Given the description of an element on the screen output the (x, y) to click on. 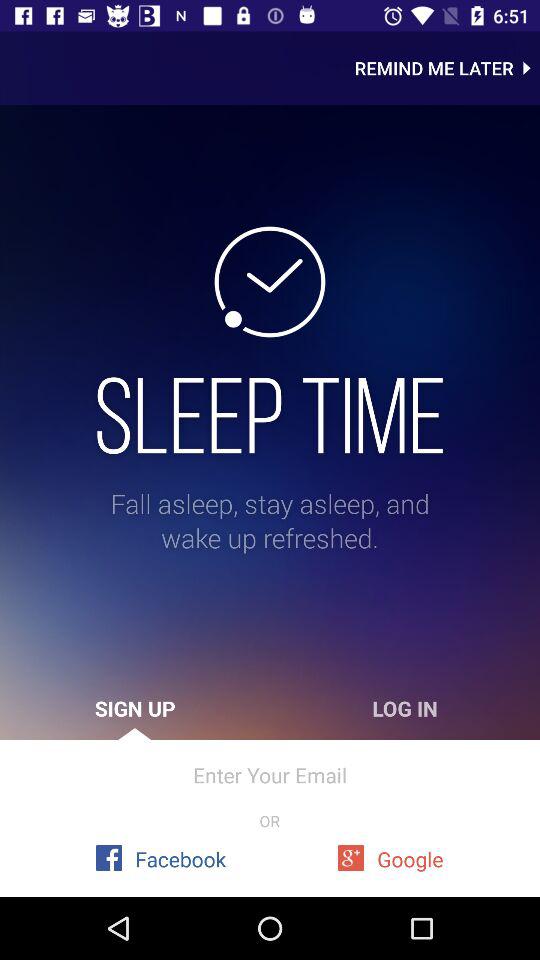
click the icon above the enter your email item (135, 707)
